Given the description of an element on the screen output the (x, y) to click on. 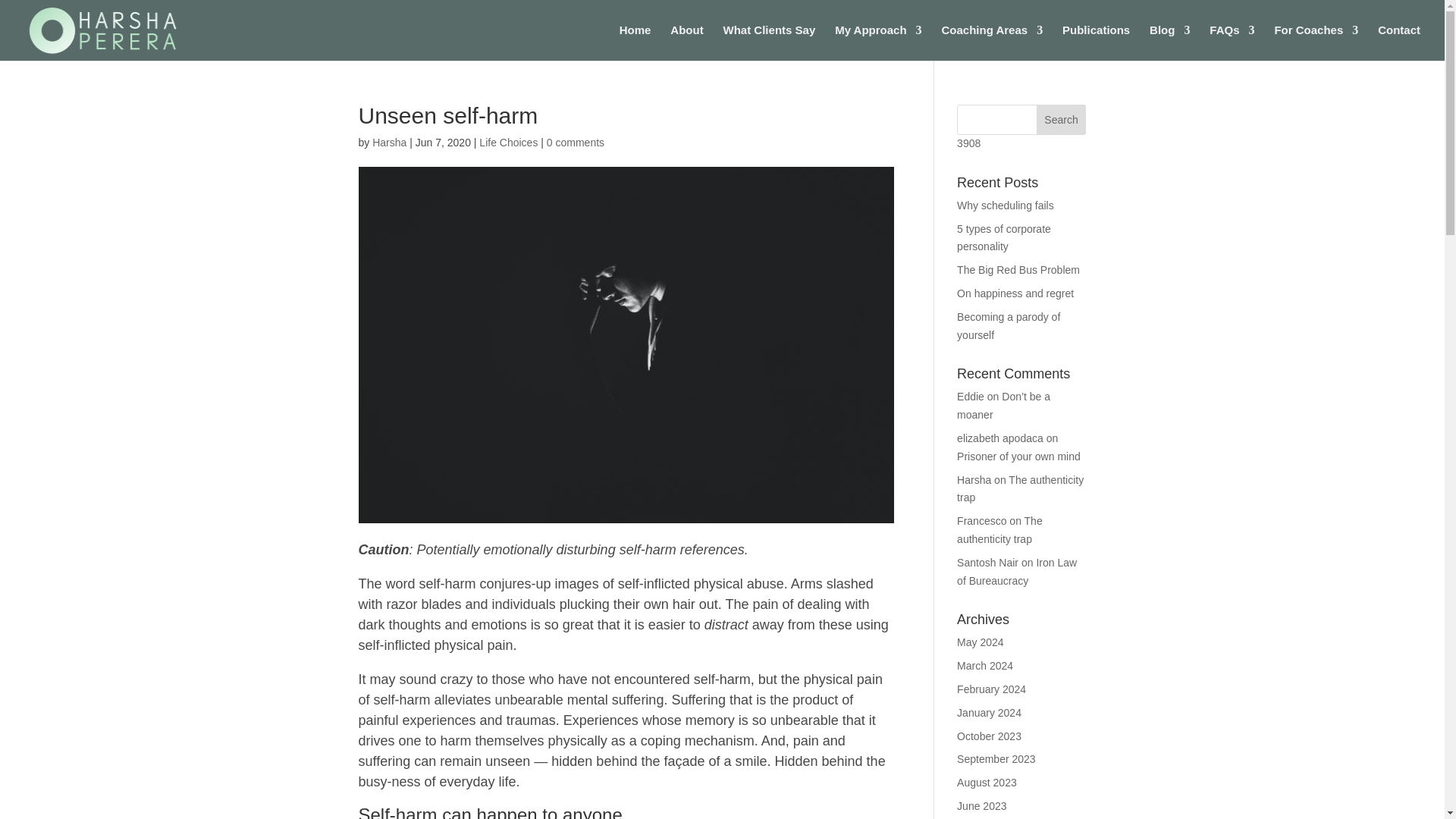
For Coaches (1316, 42)
Coaching Areas (991, 42)
Home (635, 42)
Contact (1399, 42)
FAQs (1231, 42)
Harsha (389, 142)
Publications (1095, 42)
0 comments (575, 142)
What Clients Say (769, 42)
Search (1061, 119)
